Given the description of an element on the screen output the (x, y) to click on. 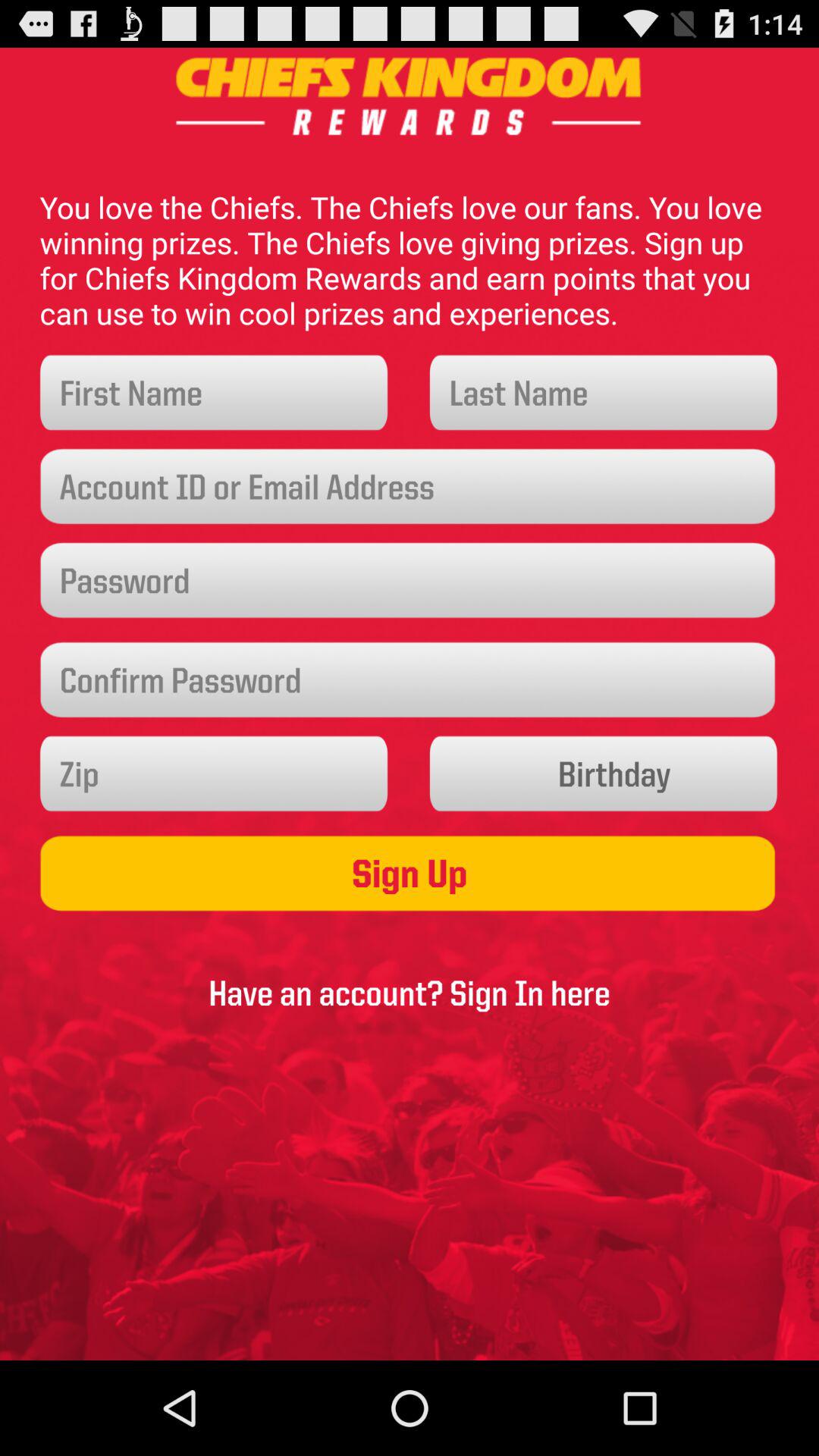
enter the password (409, 580)
